Given the description of an element on the screen output the (x, y) to click on. 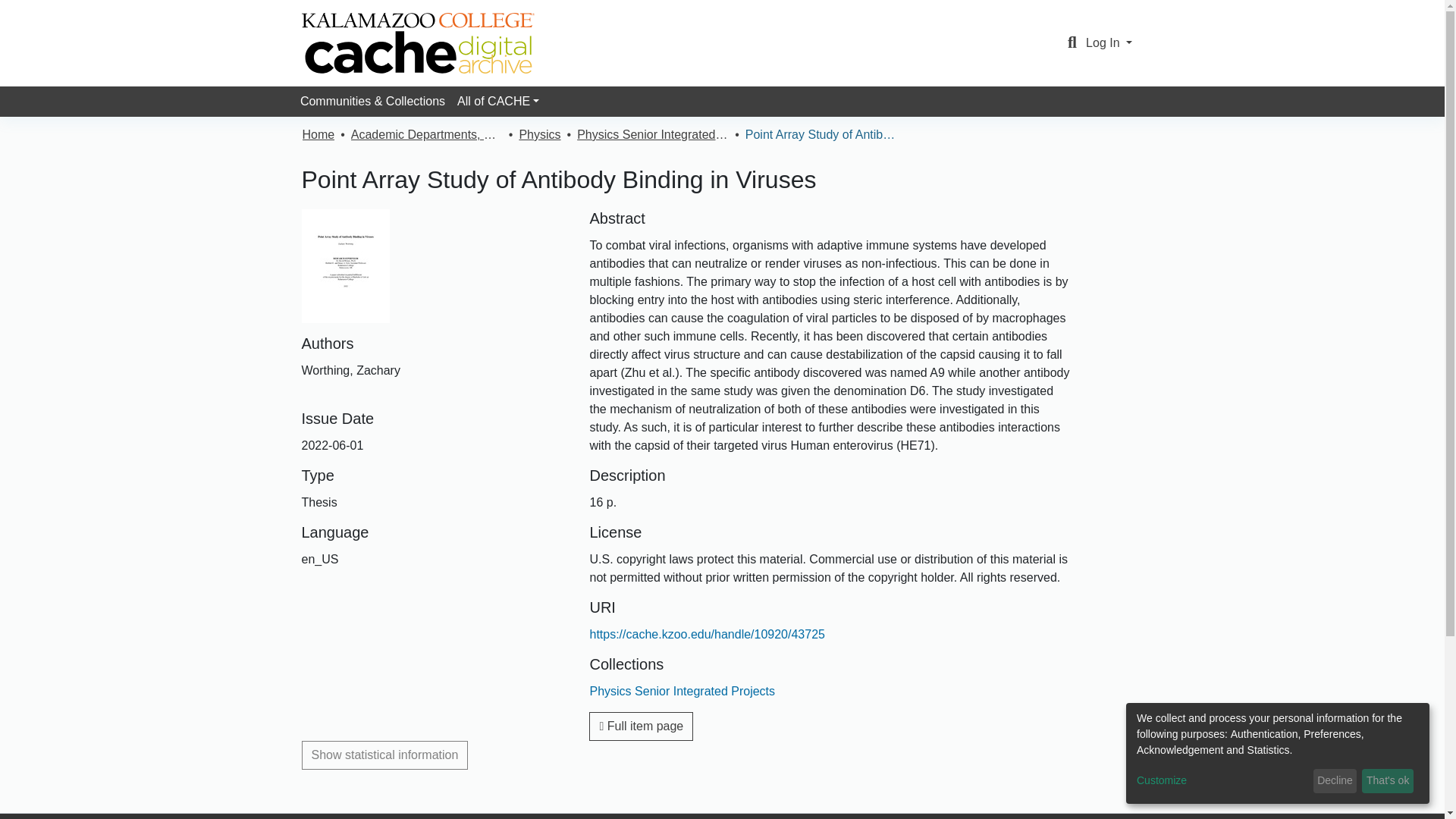
Search (1072, 43)
Academic Departments, Programs, and SIPs (426, 135)
Decline (1334, 781)
Full item page (641, 726)
All of CACHE (497, 101)
Show statistical information (384, 755)
Log In (1108, 42)
Home (317, 135)
Physics (539, 135)
That's ok (1387, 781)
